Given the description of an element on the screen output the (x, y) to click on. 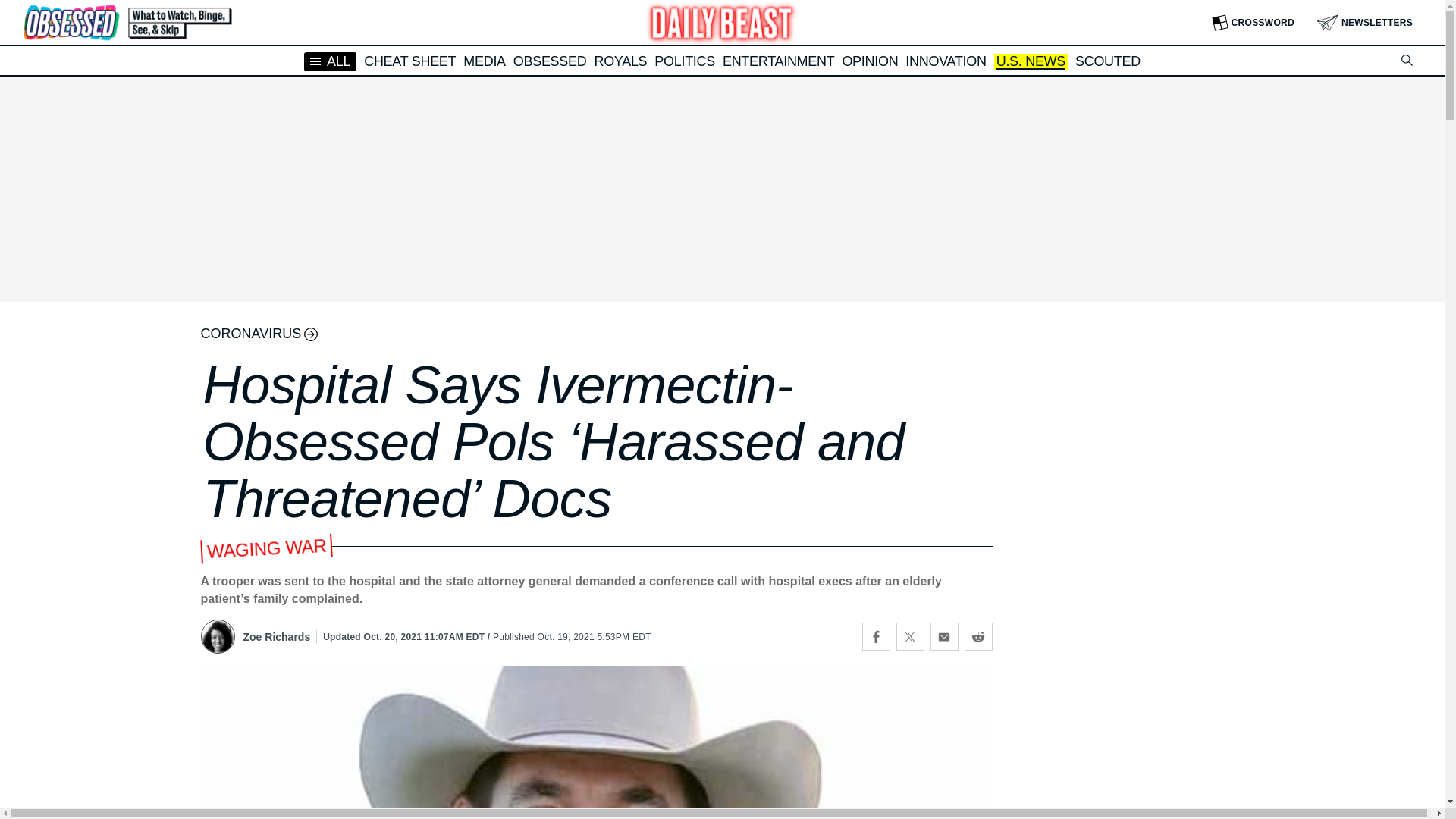
MEDIA (484, 60)
INNOVATION (945, 60)
SCOUTED (1107, 60)
ALL (330, 60)
POLITICS (683, 60)
OPINION (869, 60)
ENTERTAINMENT (778, 60)
CHEAT SHEET (409, 60)
NEWSLETTERS (1364, 22)
OBSESSED (549, 60)
